Given the description of an element on the screen output the (x, y) to click on. 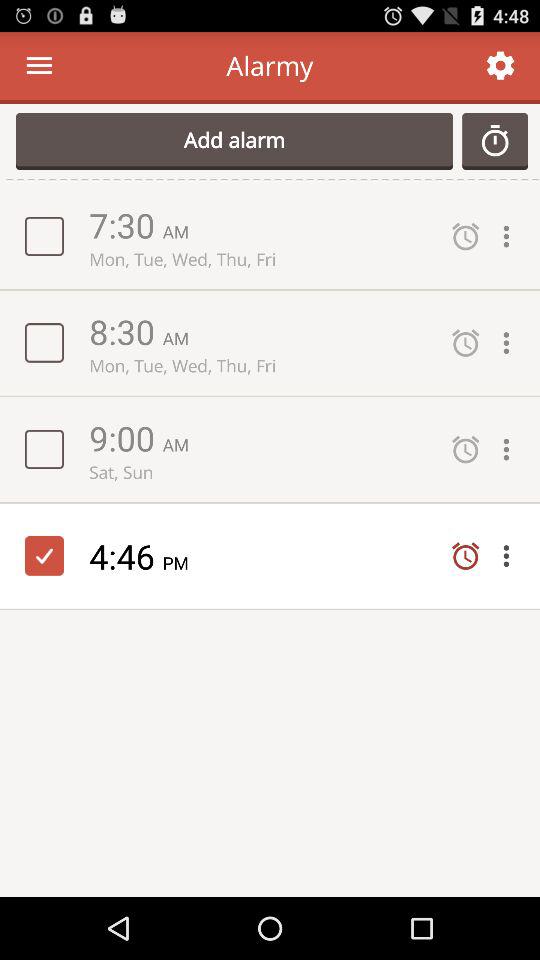
select the 9:00 (125, 437)
